Given the description of an element on the screen output the (x, y) to click on. 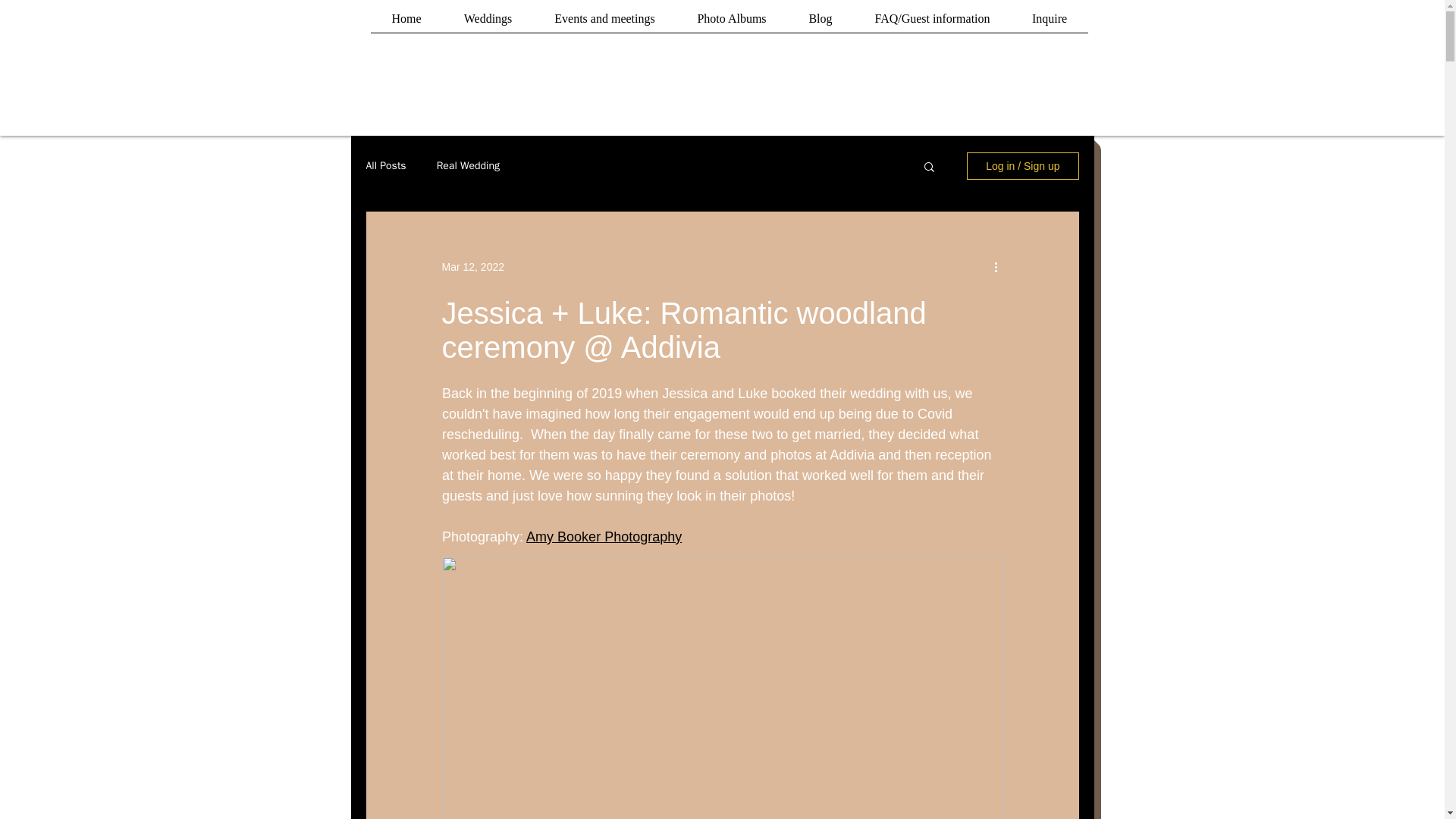
Mar 12, 2022 (472, 266)
Weddings (488, 23)
Inquire (1049, 23)
Photo Albums (732, 23)
Home (405, 23)
Amy Booker Photography (603, 536)
Events and meetings (605, 23)
Blog (820, 23)
Real Wedding (467, 165)
All Posts (385, 165)
